Given the description of an element on the screen output the (x, y) to click on. 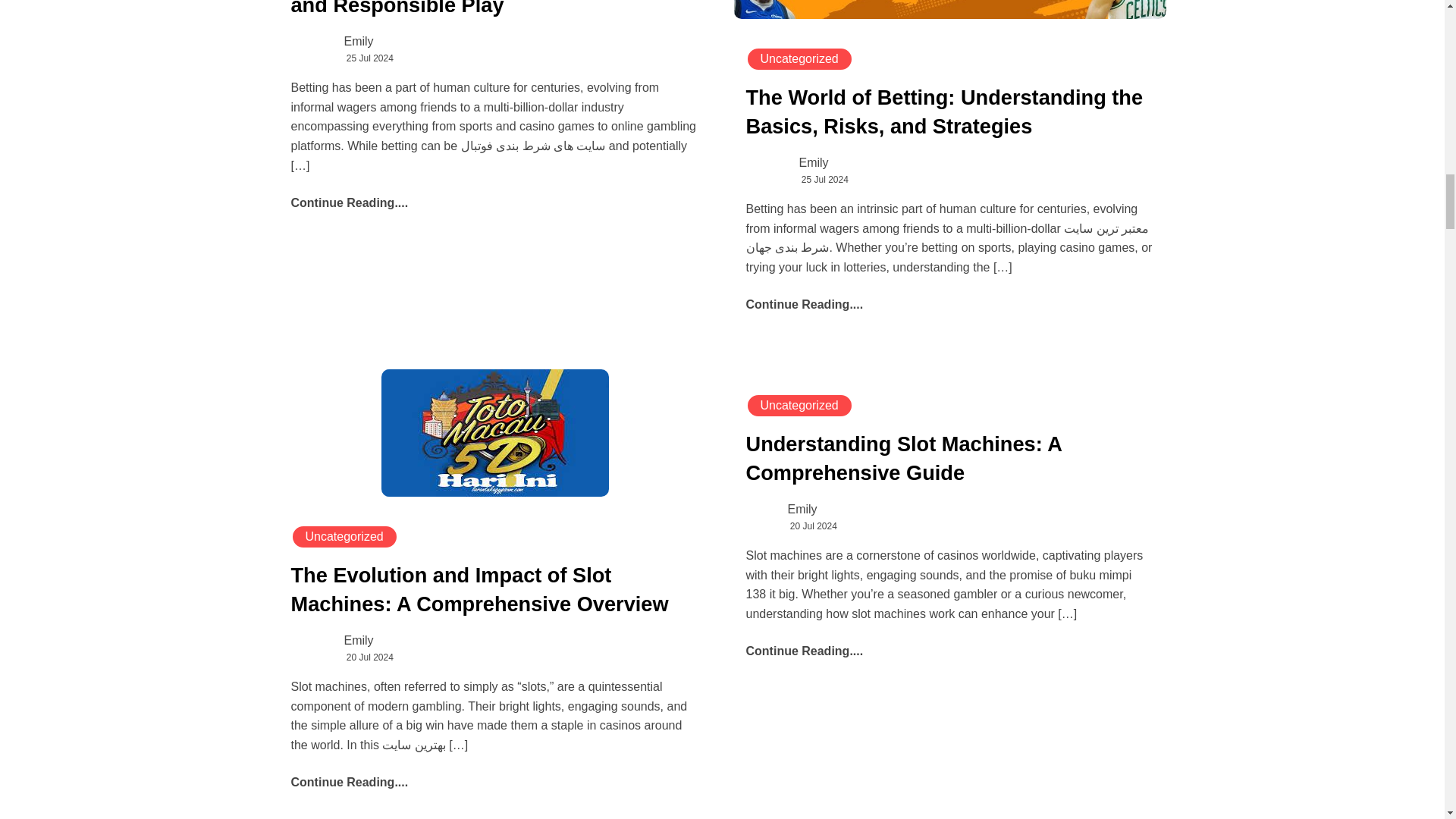
Uncategorized (799, 58)
Continue Reading.... (804, 304)
Continue Reading.... (350, 781)
25 Jul 2024 (825, 179)
25 Jul 2024 (369, 58)
Continue Reading.... (804, 650)
Uncategorized (799, 405)
Understanding Slot Machines: A Comprehensive Guide (903, 461)
20 Jul 2024 (813, 525)
Continue Reading.... (350, 202)
Uncategorized (344, 536)
20 Jul 2024 (369, 656)
Understanding Betting: Risks, Rewards, and Responsible Play (487, 7)
